Given the description of an element on the screen output the (x, y) to click on. 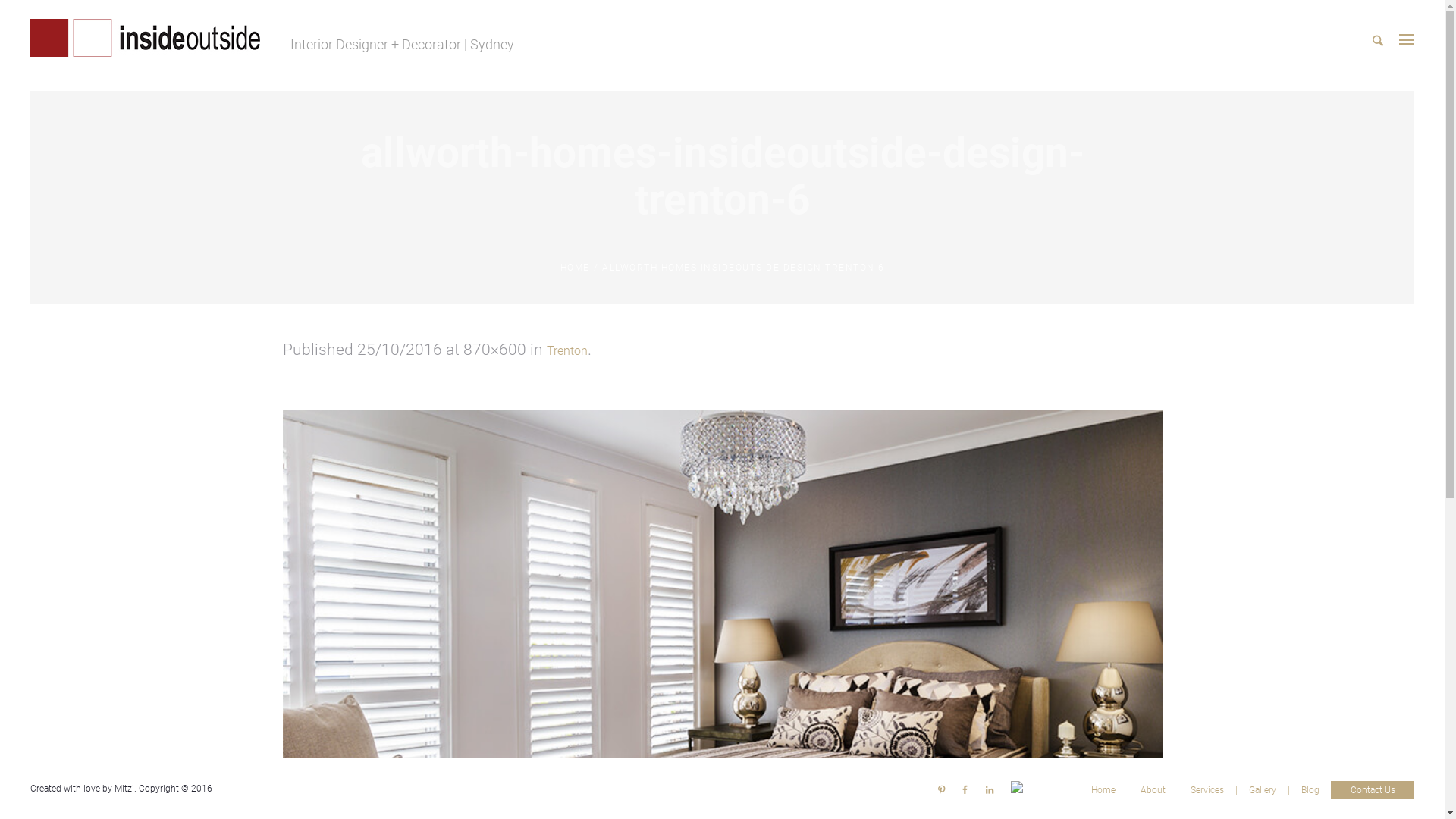
Facebook Element type: hover (964, 789)
Contact Us Element type: text (1372, 790)
Home Element type: text (1103, 789)
Gallery Element type: text (1262, 789)
HOME Element type: text (574, 267)
Pinterest Element type: hover (941, 789)
LinkedIn Element type: hover (988, 789)
Trenton Element type: text (566, 350)
About Element type: text (1152, 789)
Blog Element type: text (1310, 789)
Services Element type: text (1206, 789)
